Given the description of an element on the screen output the (x, y) to click on. 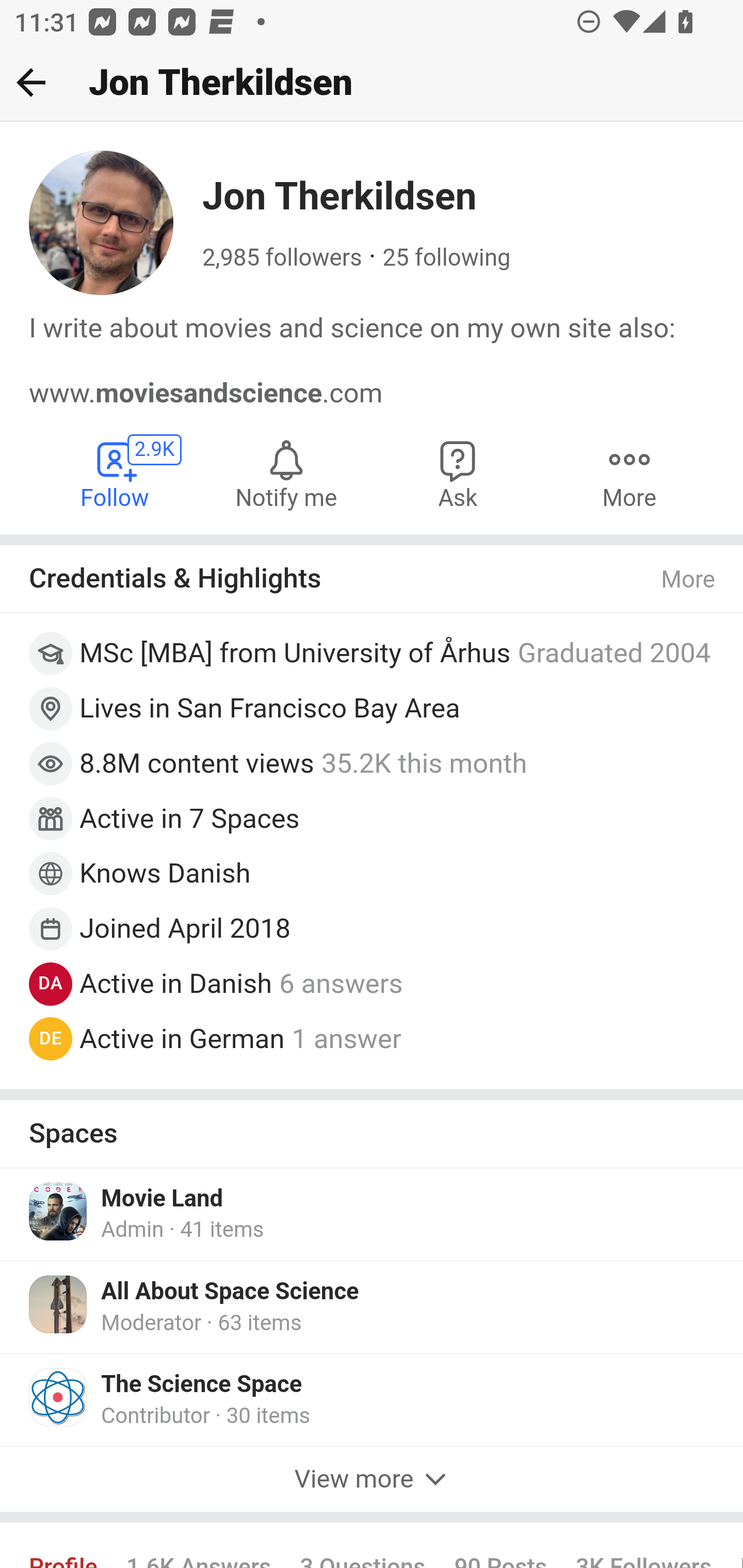
Back (30, 82)
2,985 followers (282, 257)
25 following (445, 257)
Follow Jon Therkildsen 2.9K Follow (115, 472)
Notify me (285, 472)
Ask (458, 472)
More (628, 472)
More (688, 580)
Active in Danish Active in  Danish (175, 982)
Active in German Active in  German (182, 1037)
Icon for Movie Land (58, 1210)
Movie Land (162, 1197)
Icon for All About Space Science (58, 1303)
All About Space Science (229, 1291)
Icon for The Science Space (58, 1396)
The Science Space (202, 1384)
View more (371, 1480)
